Given the description of an element on the screen output the (x, y) to click on. 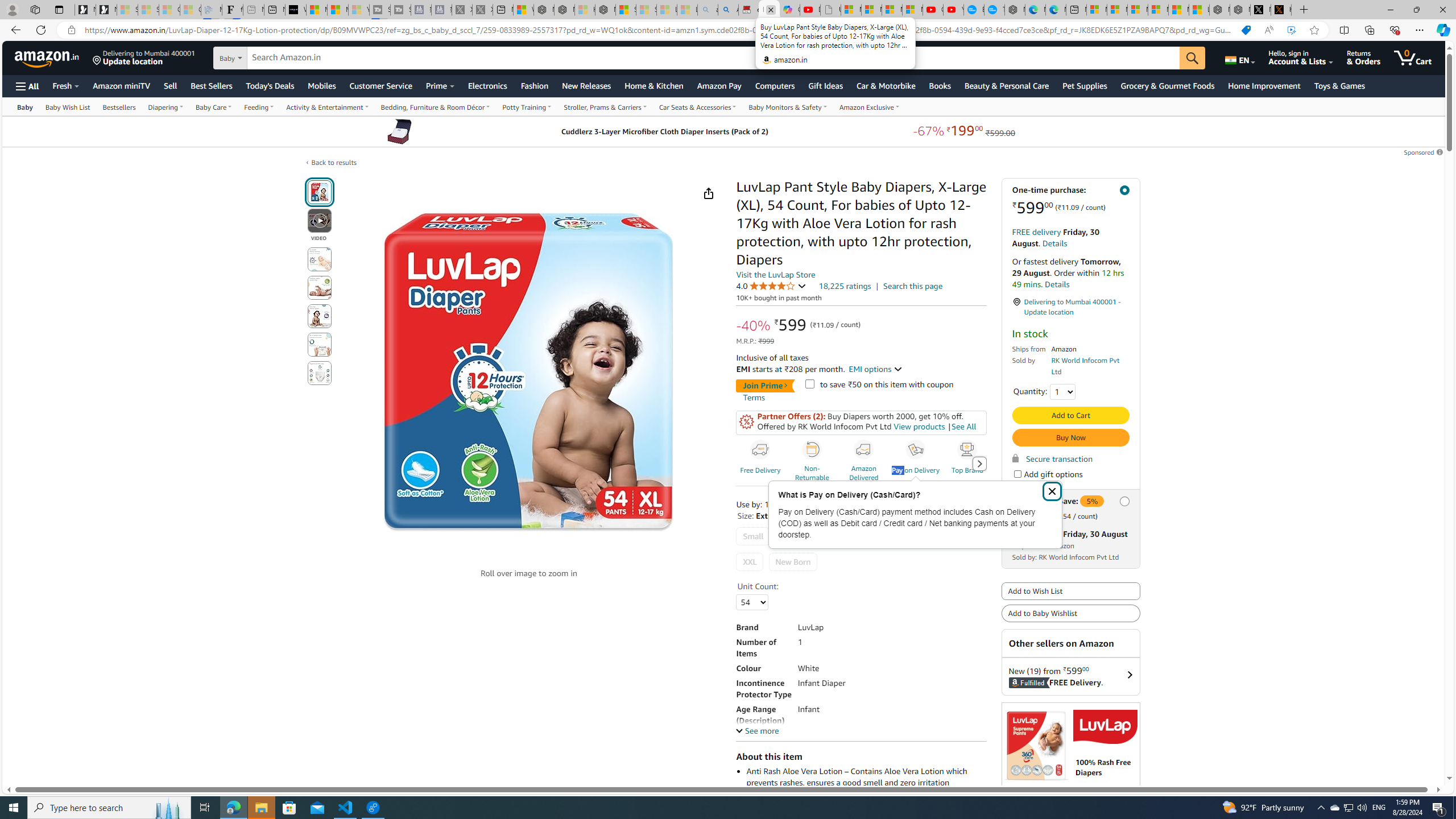
Microsoft account | Privacy (1157, 9)
help.x.com | 524: A timeout occurred (1280, 9)
Day 1: Arriving in Yemen (surreal to be here) - YouTube (809, 9)
